Given the description of an element on the screen output the (x, y) to click on. 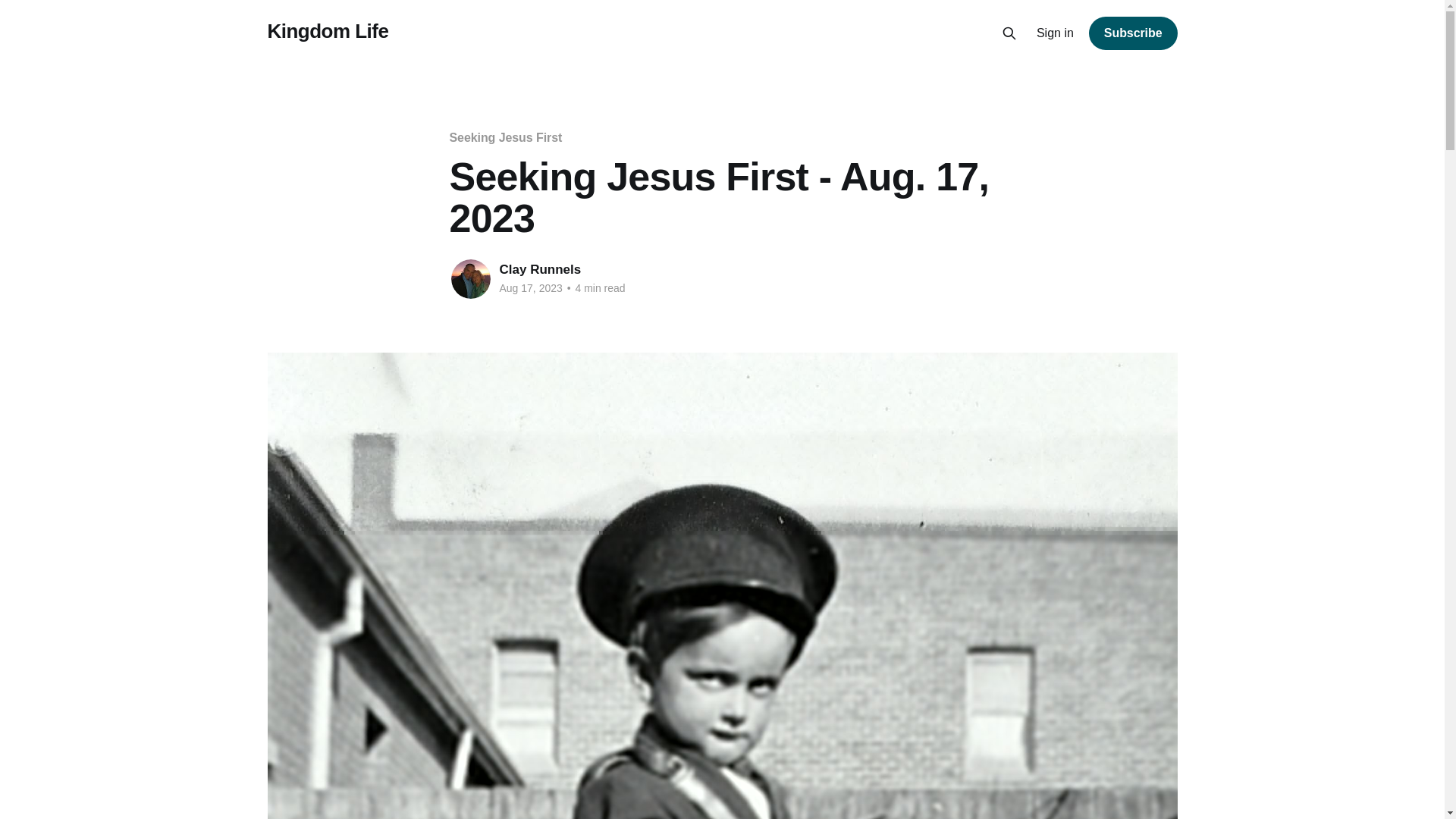
Subscribe (1133, 32)
Sign in (1055, 33)
Seeking Jesus First (505, 137)
Clay Runnels (539, 269)
Kingdom Life (327, 31)
